Given the description of an element on the screen output the (x, y) to click on. 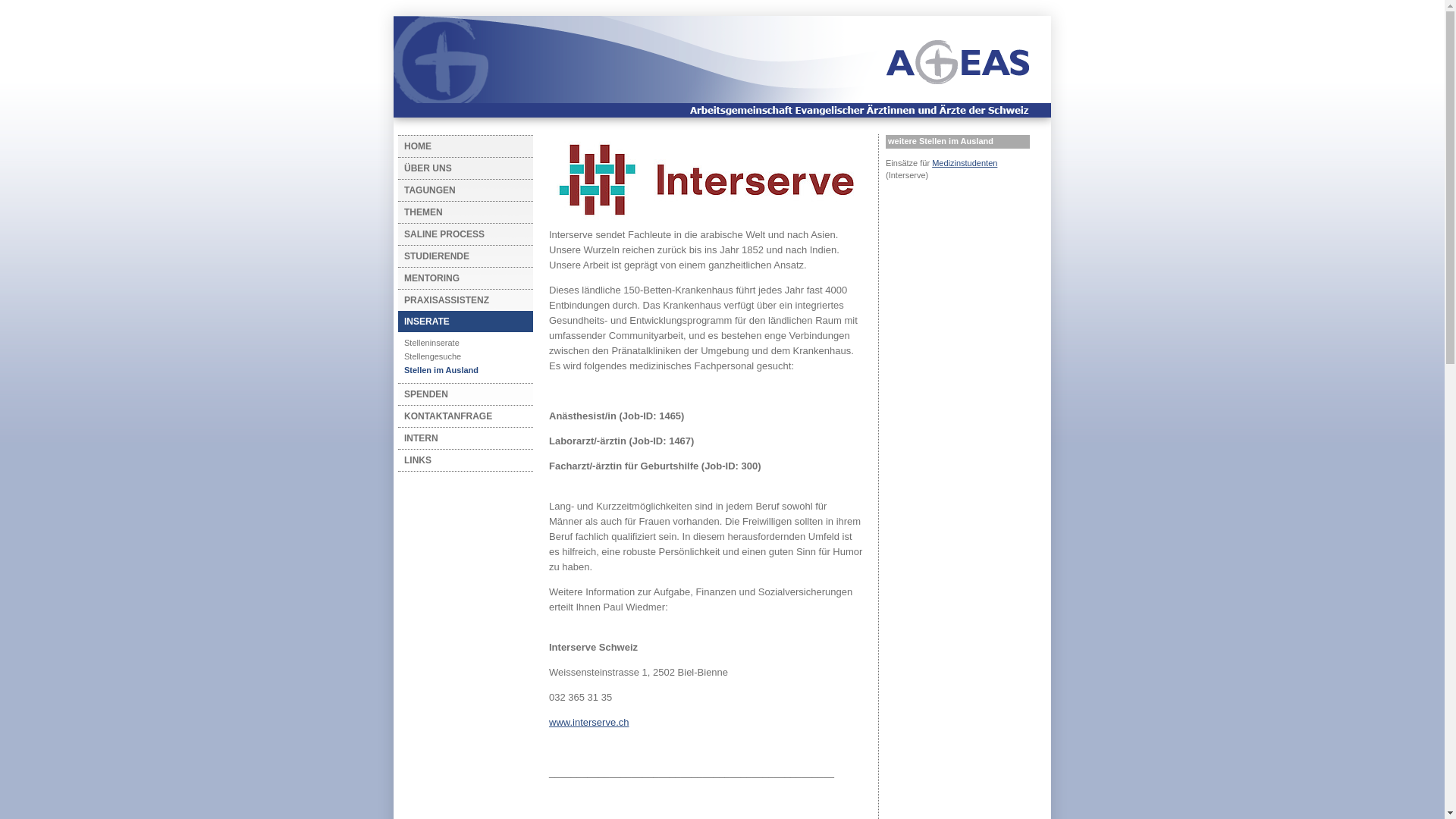
MENTORING Element type: text (460, 277)
STUDIERENDE Element type: text (460, 255)
Medizinstudenten Element type: text (964, 162)
Stelleninserate Element type: text (460, 342)
Stellen im Ausland Element type: text (460, 369)
Stellengesuche Element type: text (460, 356)
KONTAKTANFRAGE Element type: text (460, 415)
THEMEN Element type: text (460, 211)
TAGUNGEN Element type: text (460, 189)
SALINE PROCESS Element type: text (460, 233)
SPENDEN Element type: text (460, 393)
PRAXISASSISTENZ Element type: text (460, 299)
HOME Element type: text (460, 145)
INSERATE Element type: text (460, 321)
LINKS Element type: text (460, 459)
www.interserve.ch Element type: text (588, 722)
INTERN Element type: text (460, 437)
